Given the description of an element on the screen output the (x, y) to click on. 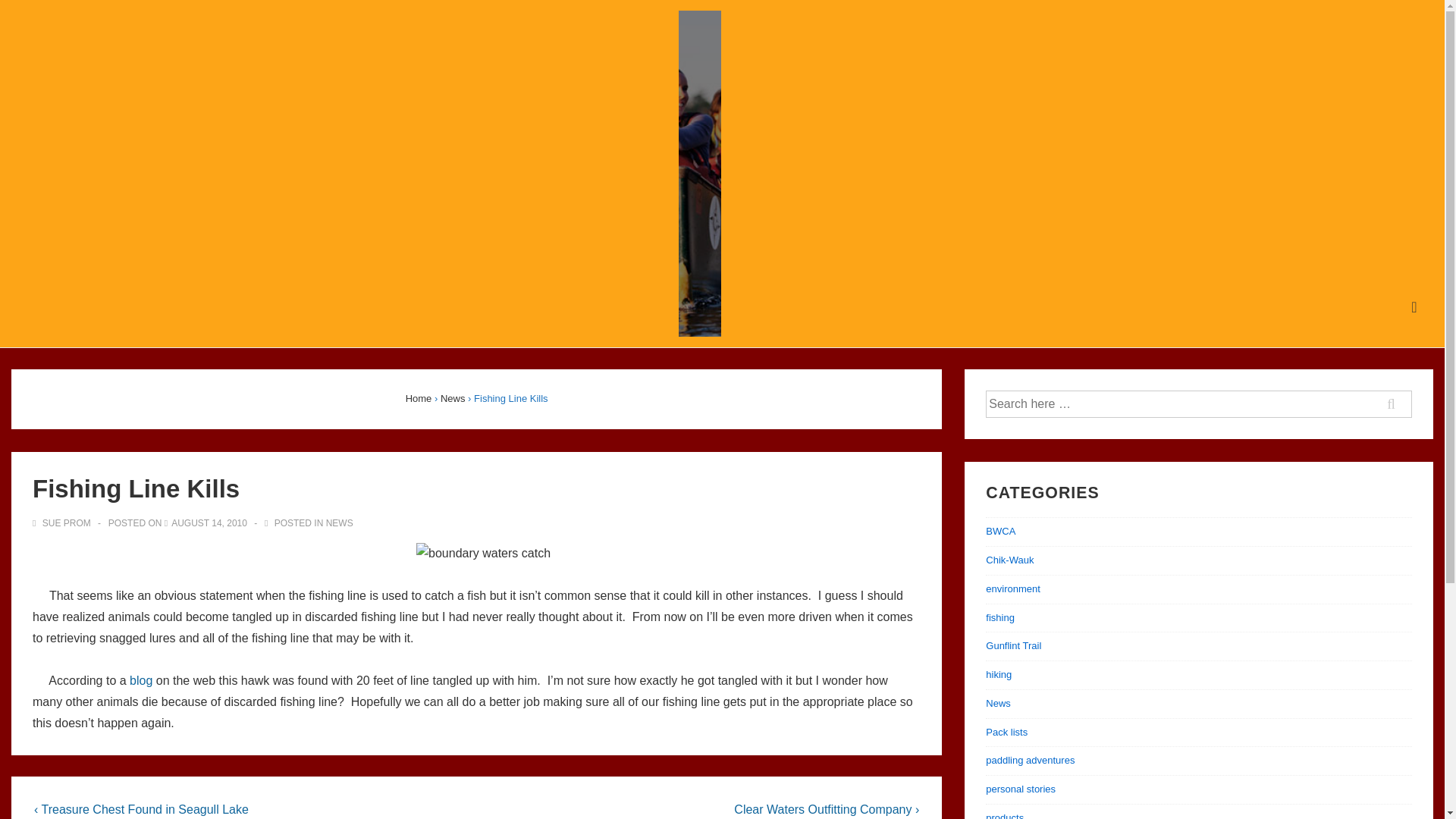
Pack lists (1006, 731)
personal stories (1020, 788)
Gunflint Trail (1013, 645)
blog (142, 680)
Chik-Wauk (1009, 559)
paddling adventures (1029, 759)
MENU (1414, 307)
fishing (999, 617)
SUE PROM (62, 522)
Fishing Line Kills (209, 522)
